Given the description of an element on the screen output the (x, y) to click on. 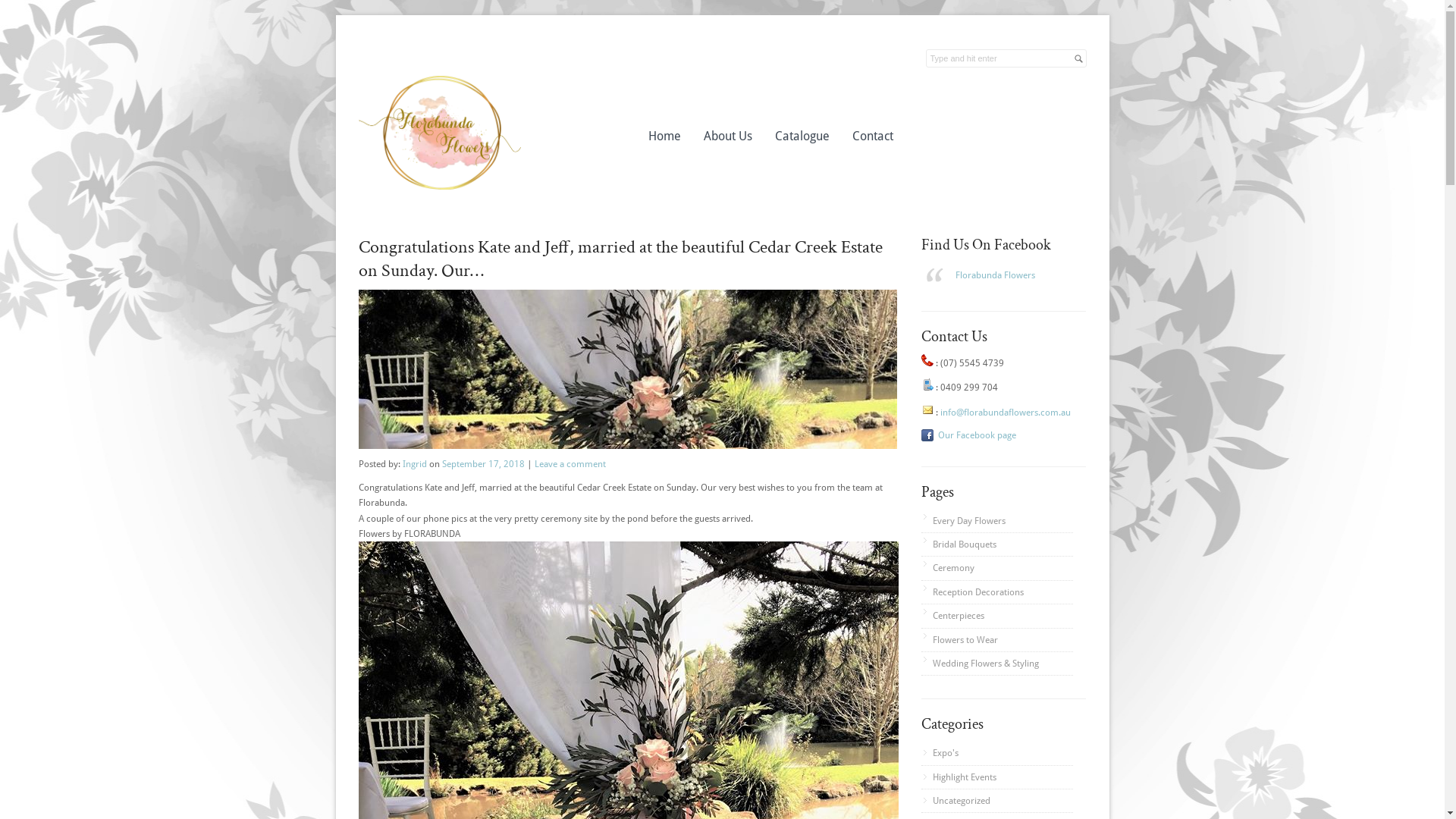
Ingrid Element type: text (413, 463)
Bridal Bouquets Element type: text (961, 544)
Reception Decorations Element type: text (975, 592)
Contact Element type: text (871, 136)
Centerpieces Element type: text (955, 615)
Expo's Element type: text (938, 752)
Florabunda Flowers Element type: text (995, 274)
September 17, 2018 Element type: text (482, 463)
Leave a comment Element type: text (569, 463)
Our Facebook page Element type: text (967, 435)
Ceremony Element type: text (950, 567)
Home Element type: text (664, 136)
Florabunda Flowers Element type: hover (721, 98)
Uncategorized Element type: text (954, 800)
Highlight Events Element type: text (957, 776)
info@florabundaflowers.com.au Element type: text (1005, 412)
Flowers to Wear Element type: text (962, 639)
Wedding Flowers & Styling Element type: text (982, 663)
Every Day Flowers Element type: text (966, 520)
Catalogue Element type: text (801, 136)
About Us Element type: text (726, 136)
